Given the description of an element on the screen output the (x, y) to click on. 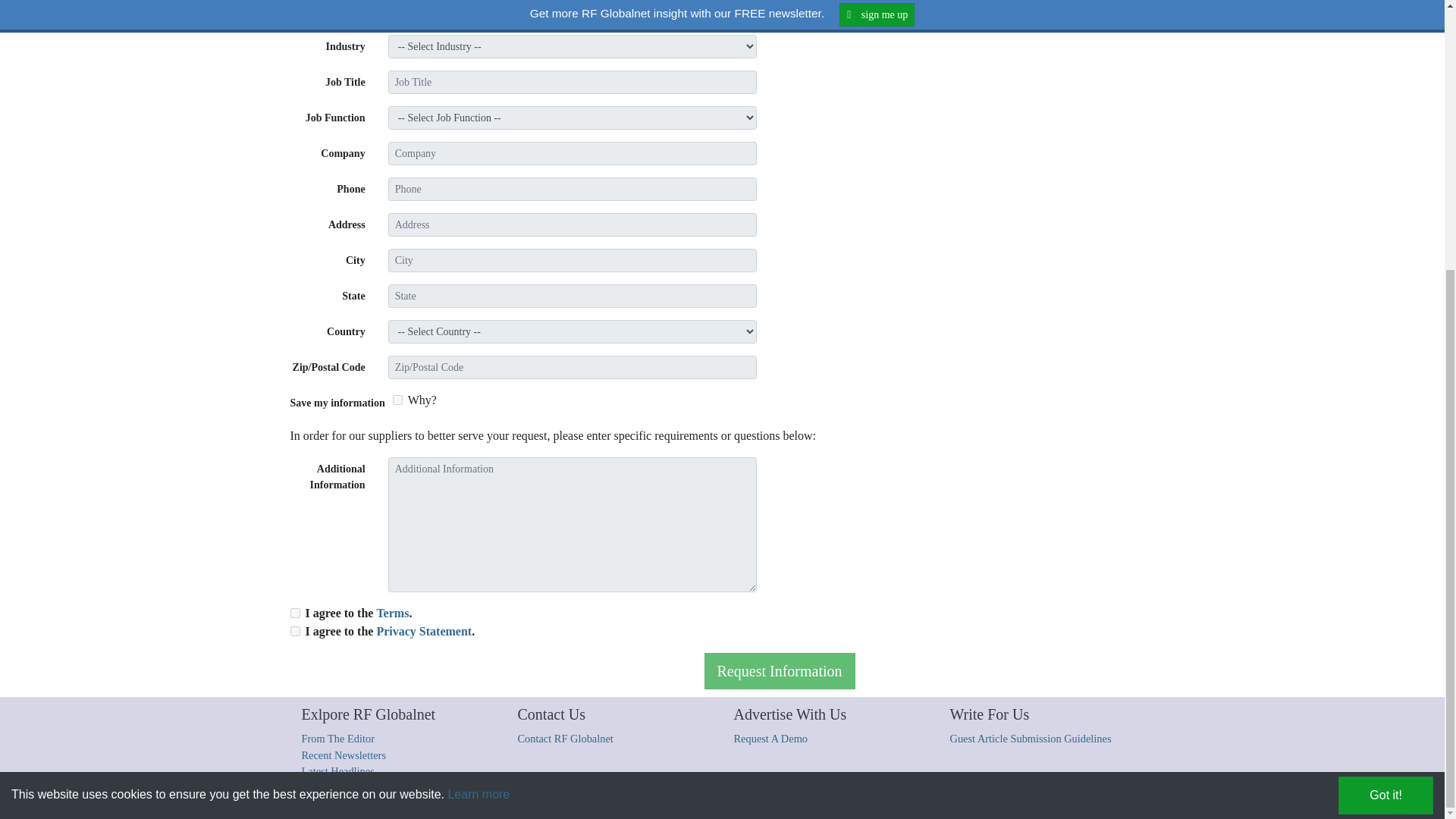
true (294, 613)
true (294, 631)
true (398, 399)
